Given the description of an element on the screen output the (x, y) to click on. 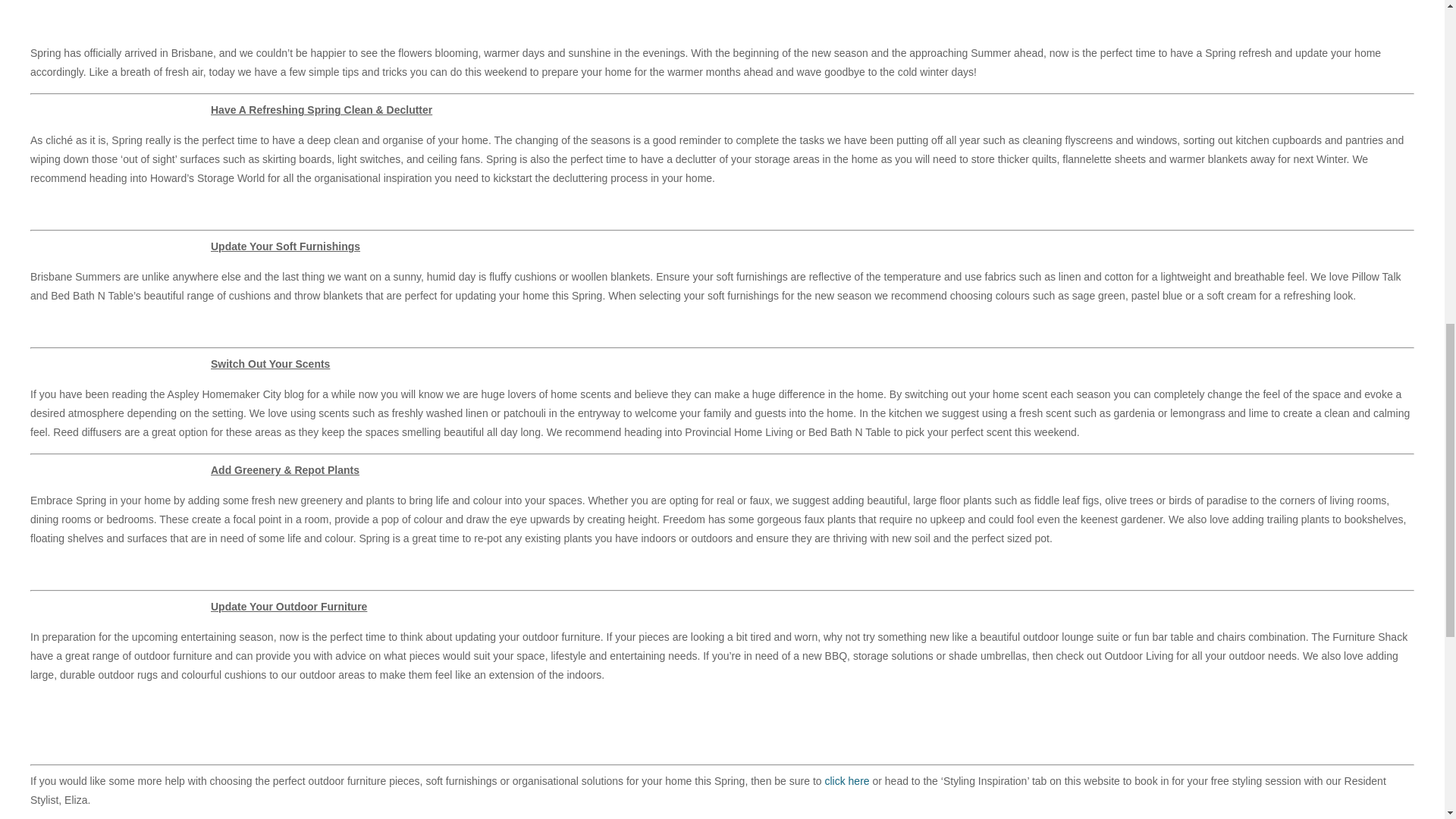
click here (846, 780)
